Given the description of an element on the screen output the (x, y) to click on. 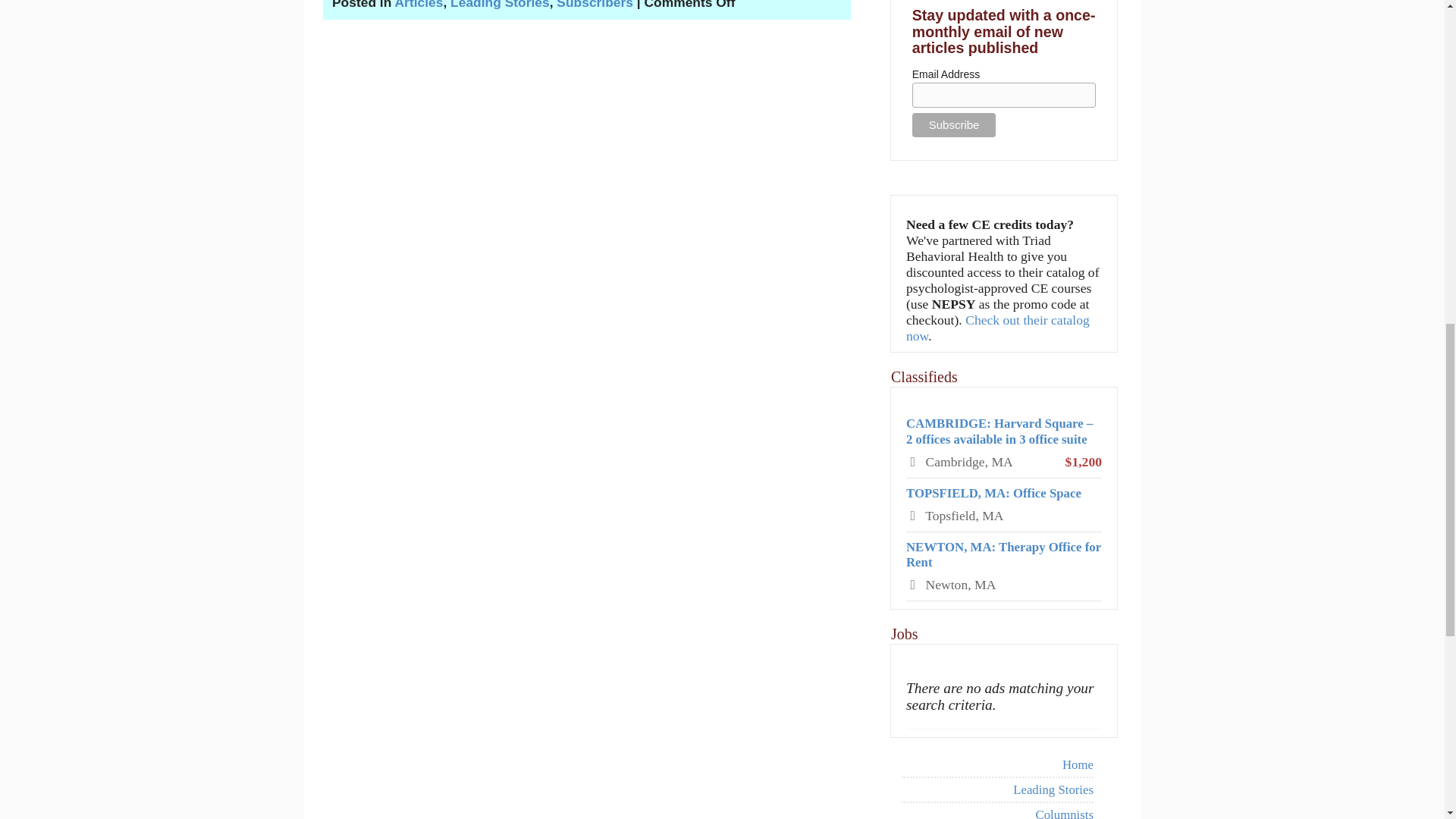
Subscribe (953, 125)
Subscribe (953, 125)
Articles (419, 4)
Leading Stories (499, 4)
Check out their catalog now (997, 327)
Subscribers (594, 4)
TOPSFIELD, MA: Office Space (993, 493)
NEWTON, MA: Therapy Office for Rent (1002, 554)
